Given the description of an element on the screen output the (x, y) to click on. 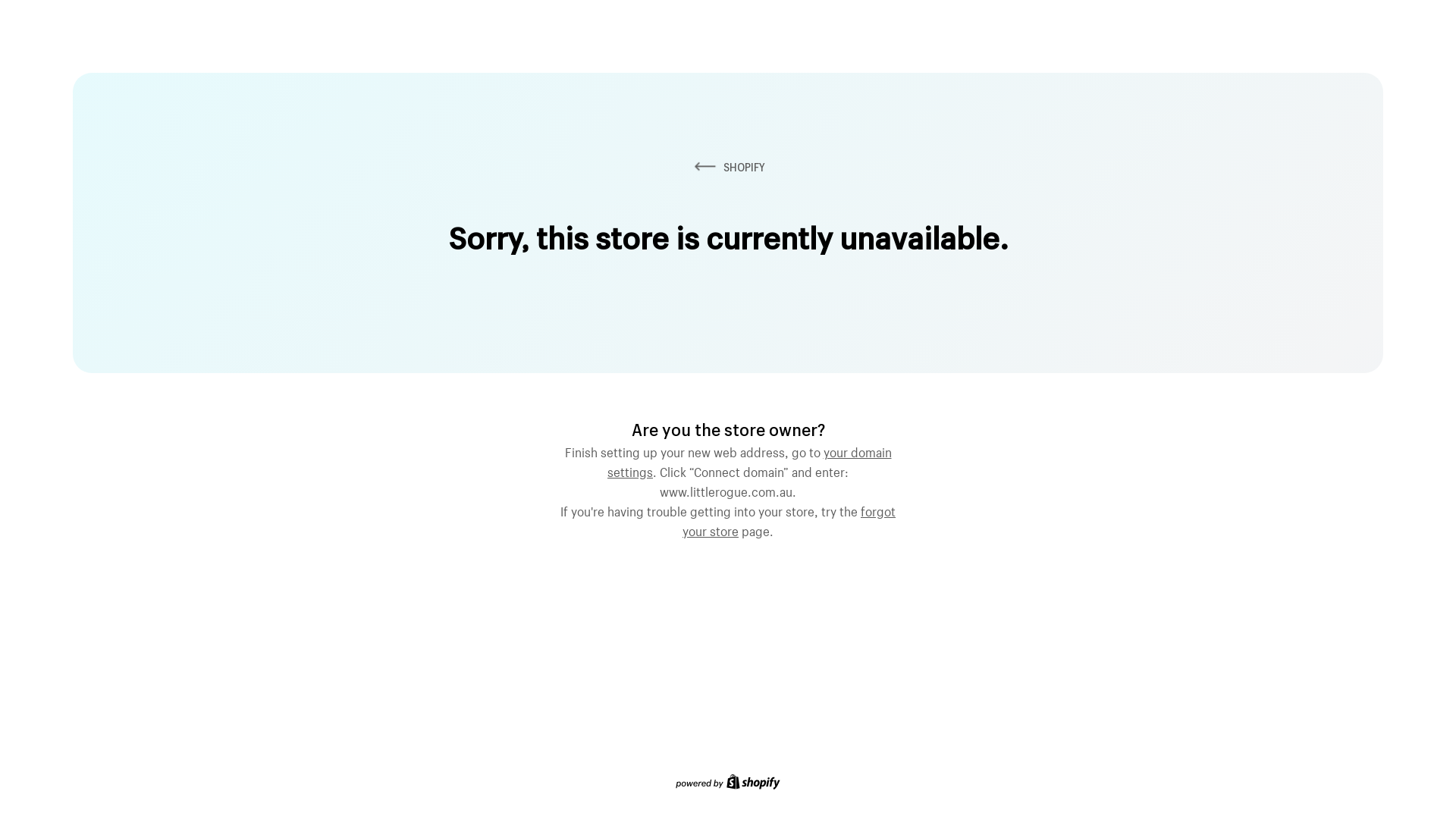
SHOPIFY Element type: text (727, 167)
forgot your store Element type: text (788, 519)
your domain settings Element type: text (749, 460)
